Given the description of an element on the screen output the (x, y) to click on. 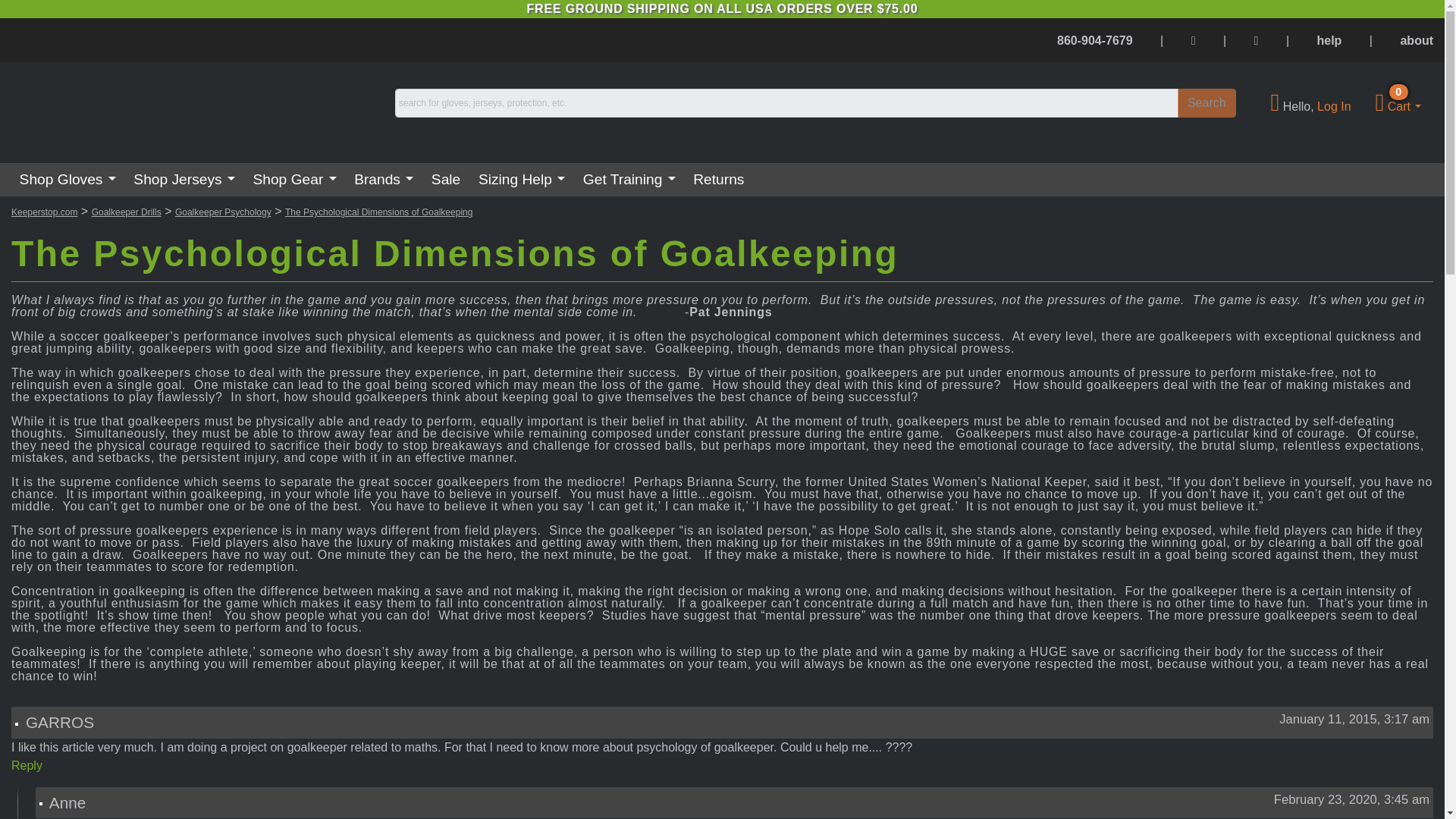
about (1415, 40)
860-904-7679 (1094, 40)
Log In (1334, 106)
Search (1206, 102)
Shop Gloves (66, 178)
help (1398, 106)
